Given the description of an element on the screen output the (x, y) to click on. 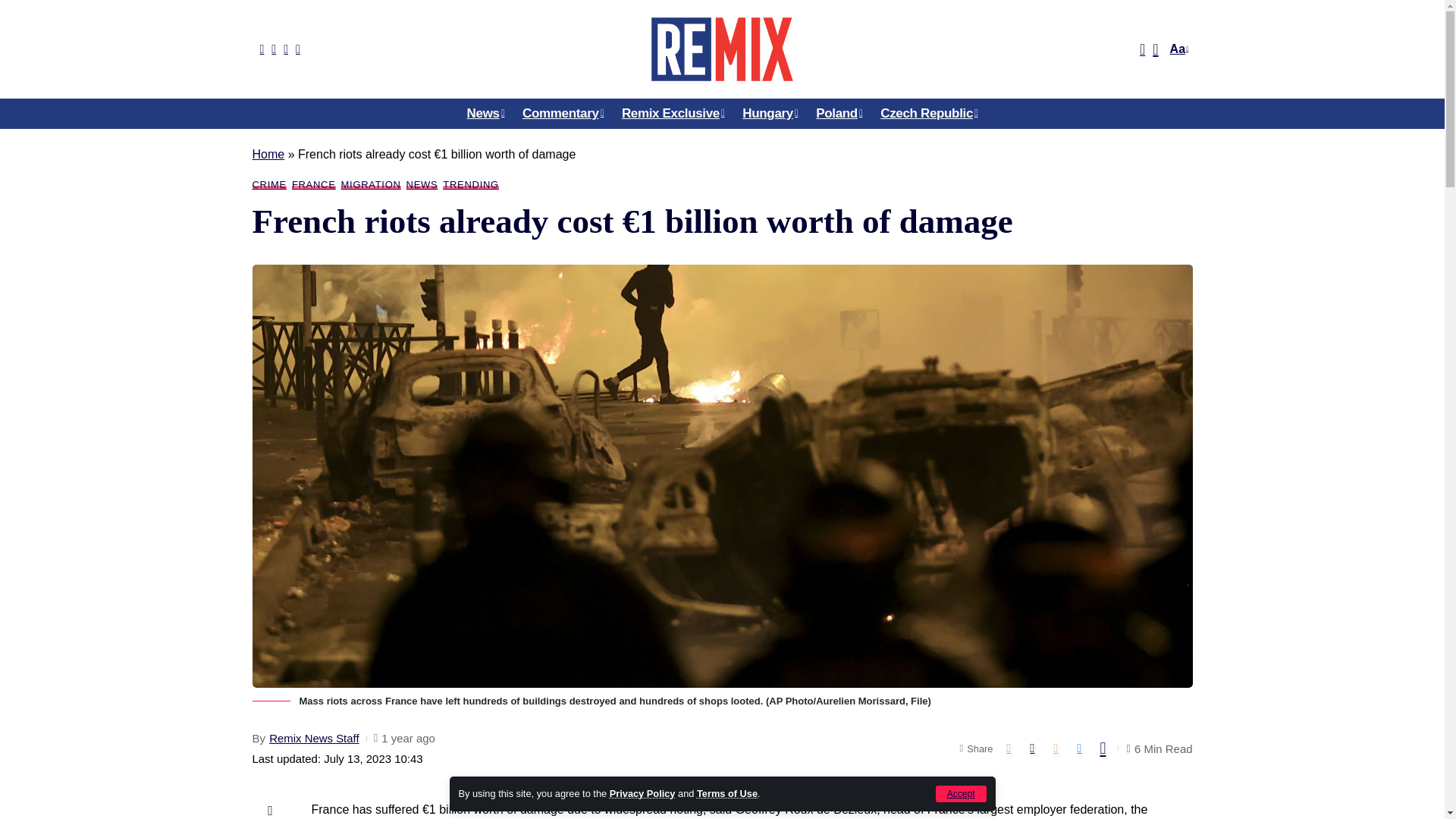
Accept (961, 793)
Remix News (721, 48)
Privacy Policy (642, 793)
Aa (1177, 48)
News (485, 113)
Remix Exclusive (672, 113)
Commentary (562, 113)
Terms of Use (727, 793)
